Given the description of an element on the screen output the (x, y) to click on. 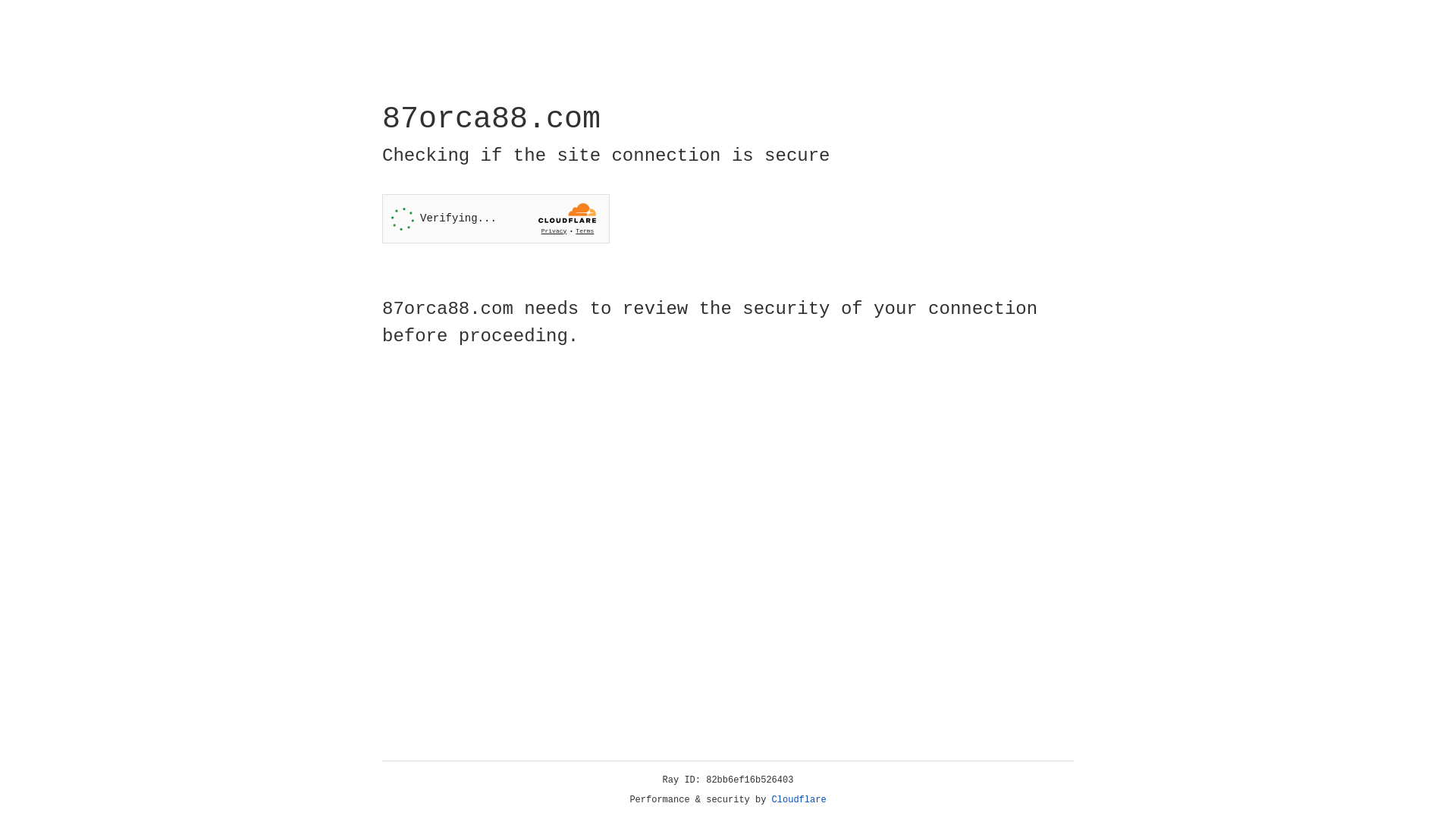
Widget containing a Cloudflare security challenge Element type: hover (495, 218)
Cloudflare Element type: text (798, 799)
